Given the description of an element on the screen output the (x, y) to click on. 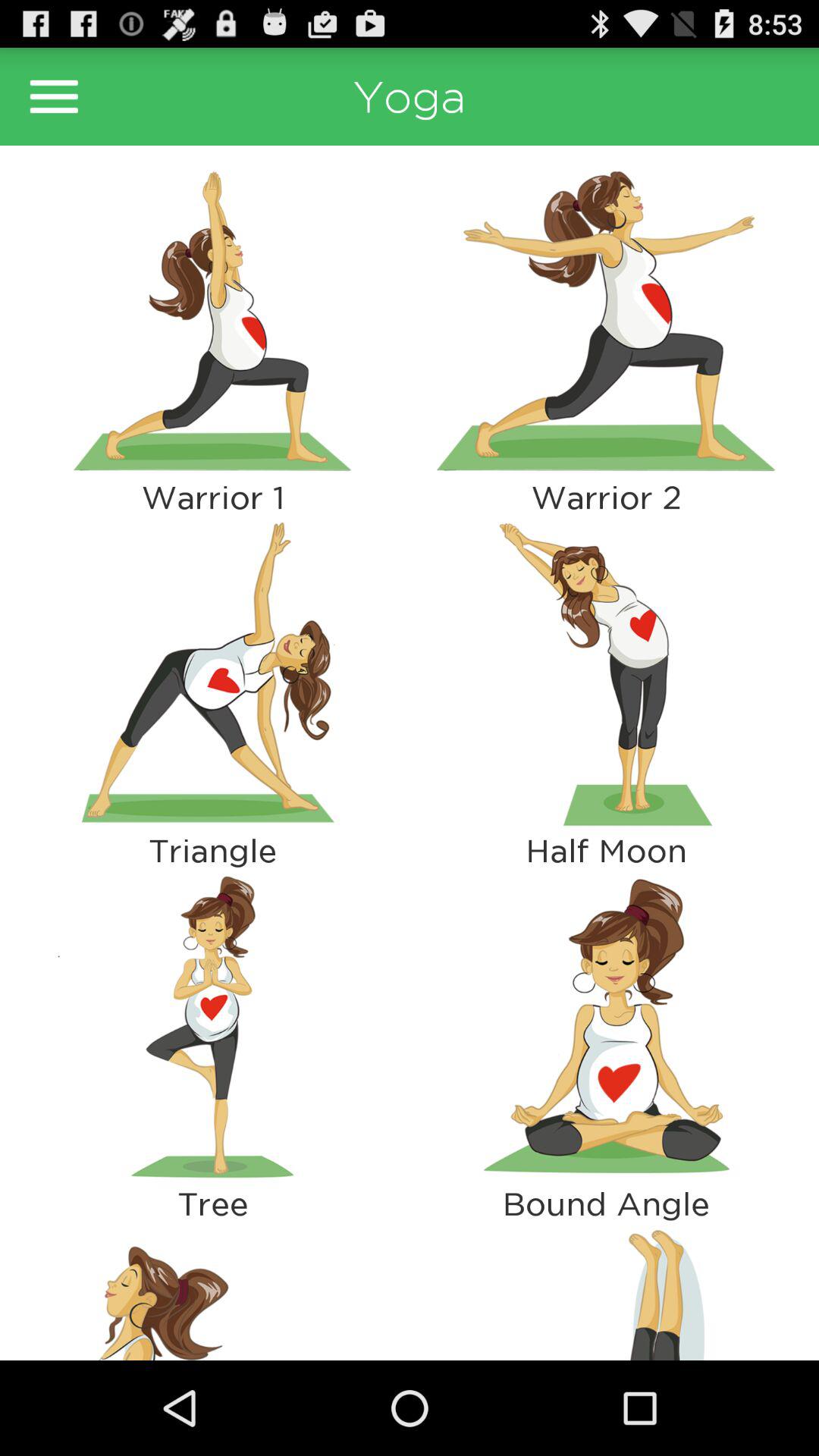
scroll to warrior 1 app (212, 497)
